Given the description of an element on the screen output the (x, y) to click on. 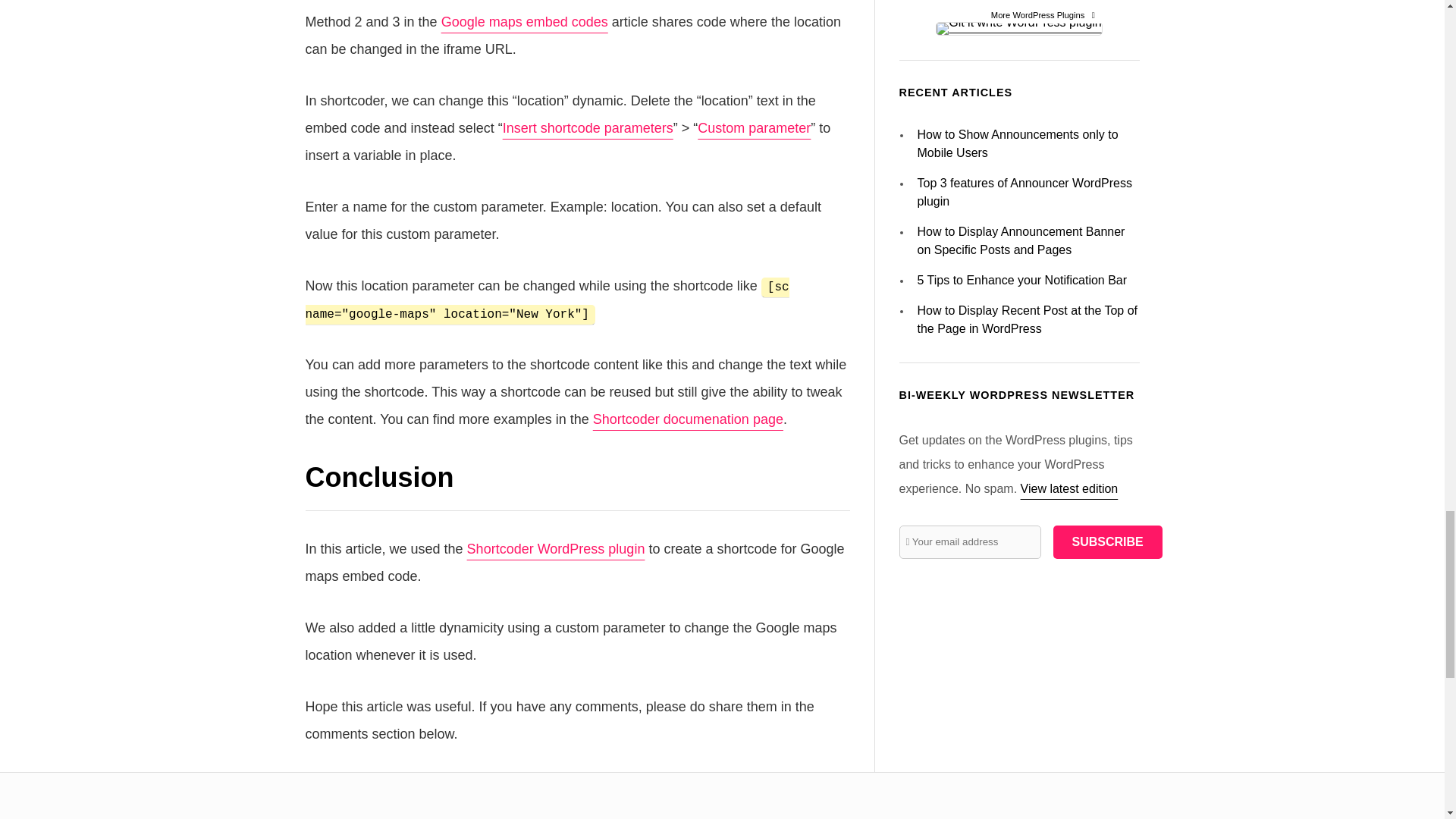
Shortcoder WordPress plugin (556, 548)
Shortcoder documenation page (687, 418)
Insert shortcode parameters (587, 127)
Custom parameter (753, 127)
Google maps embed codes (524, 21)
